Given the description of an element on the screen output the (x, y) to click on. 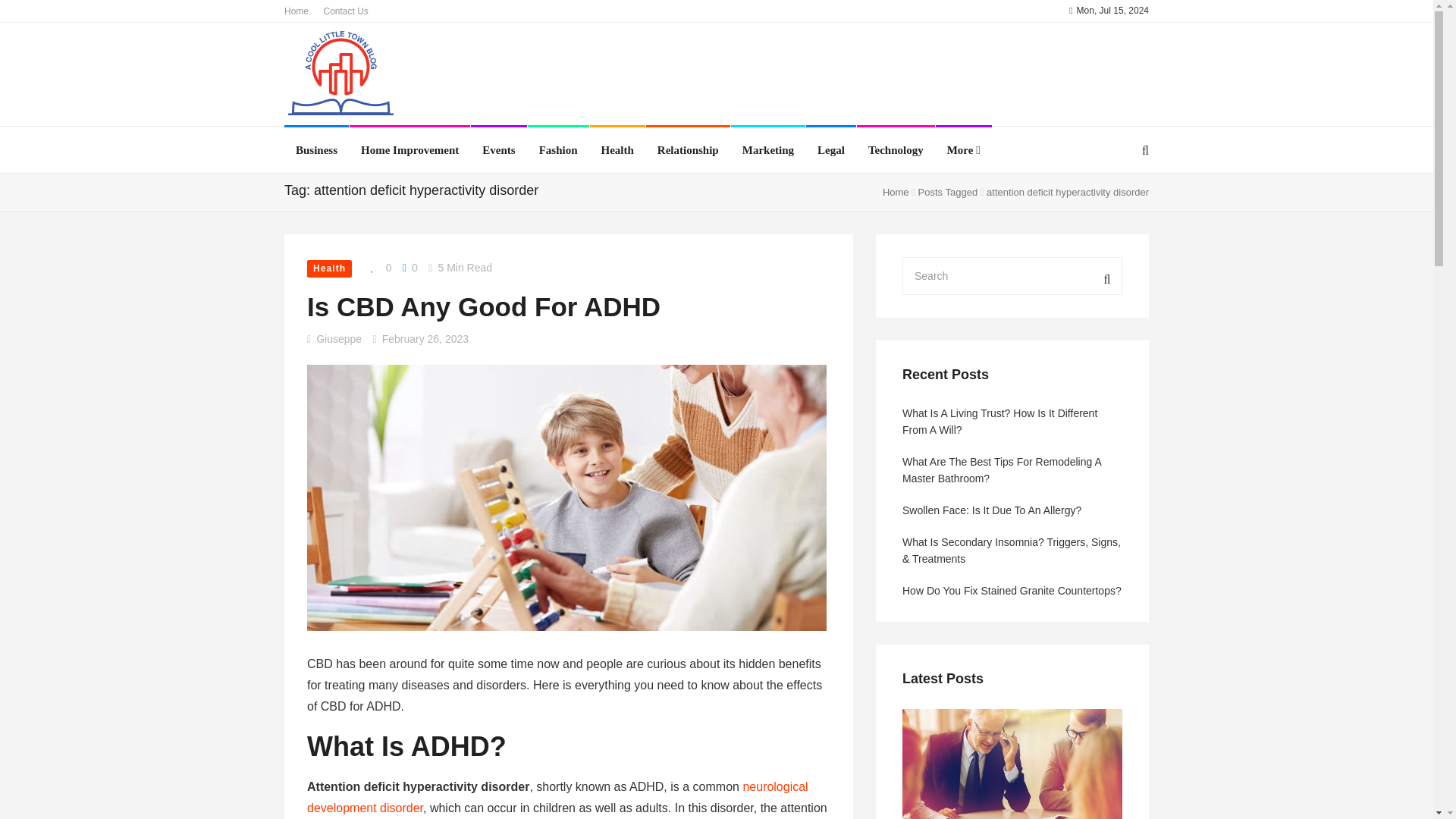
Marketing (767, 149)
Home (895, 192)
neurological development disorder (557, 797)
Home Improvement (409, 149)
Giuseppe (338, 338)
Swollen Face: Is It Due To An Allergy? (1012, 510)
a cool little town (340, 75)
What Are The Best Tips For Remodeling A Master Bathroom? (1012, 469)
How Do You Fix Stained Granite Countertops? (1012, 590)
What Is A Living Trust? How Is It Different From A Will? (1012, 421)
Business (316, 149)
Relationship (688, 149)
0 (408, 267)
Health (329, 268)
Home Improvement (409, 149)
